Given the description of an element on the screen output the (x, y) to click on. 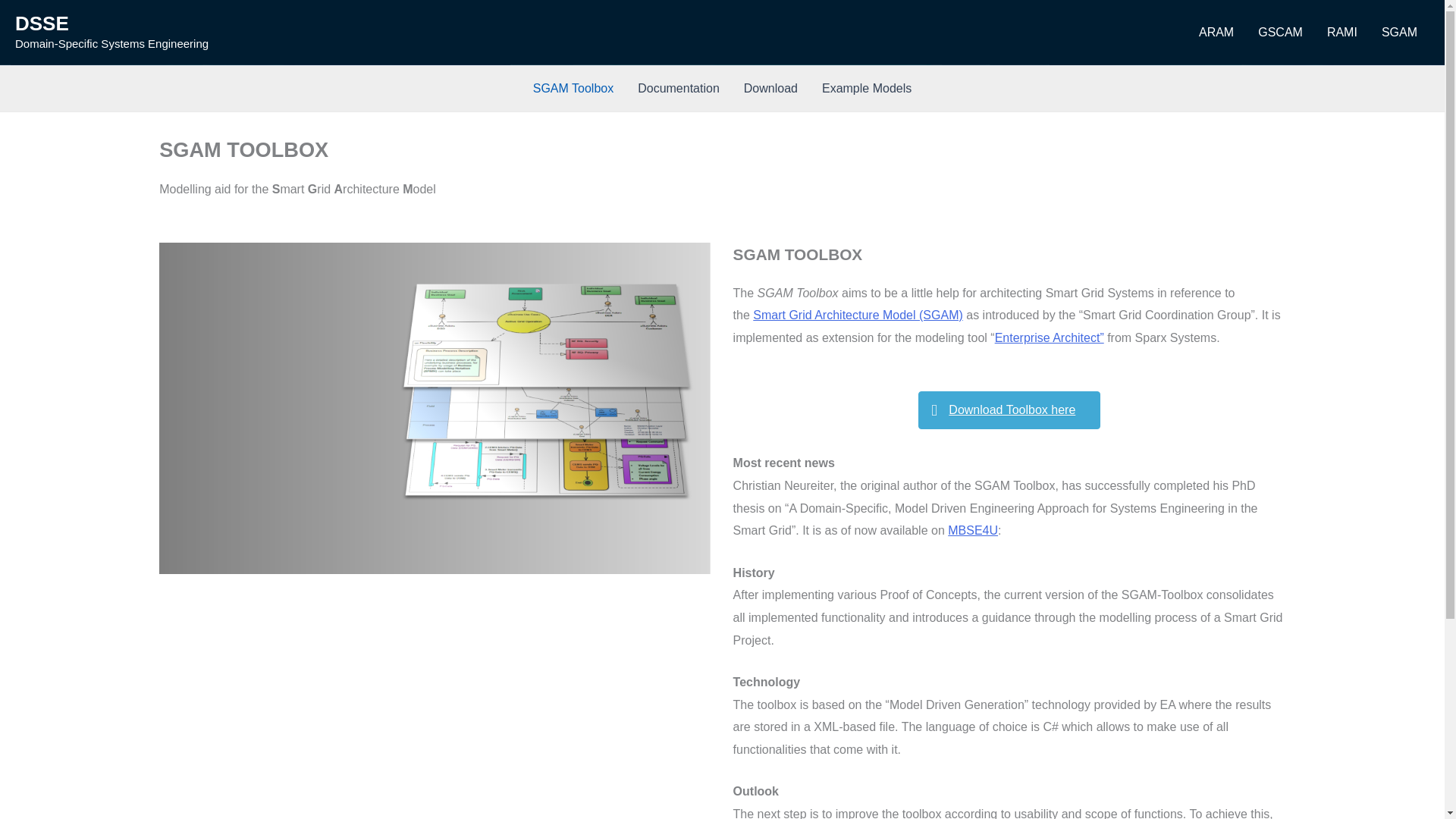
Download Toolbox here (1009, 410)
Download (770, 88)
Documentation (679, 88)
Example Models (866, 88)
MBSE4U (972, 530)
GSCAM (1280, 32)
ARAM (1216, 32)
DSSE (41, 23)
SGAM Toolbox (573, 88)
SGAM (1399, 32)
